Given the description of an element on the screen output the (x, y) to click on. 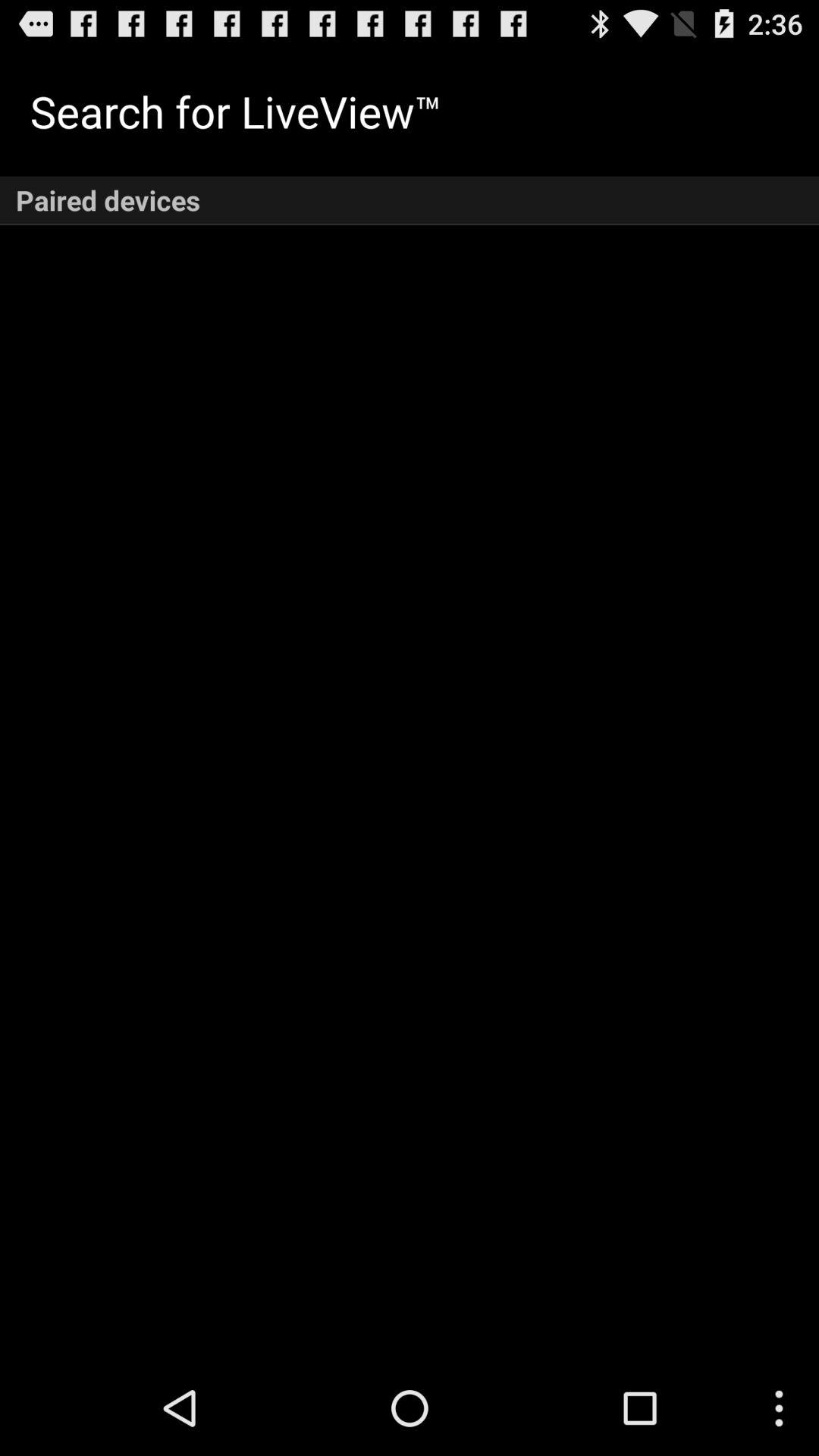
jump until the paired devices icon (409, 200)
